Given the description of an element on the screen output the (x, y) to click on. 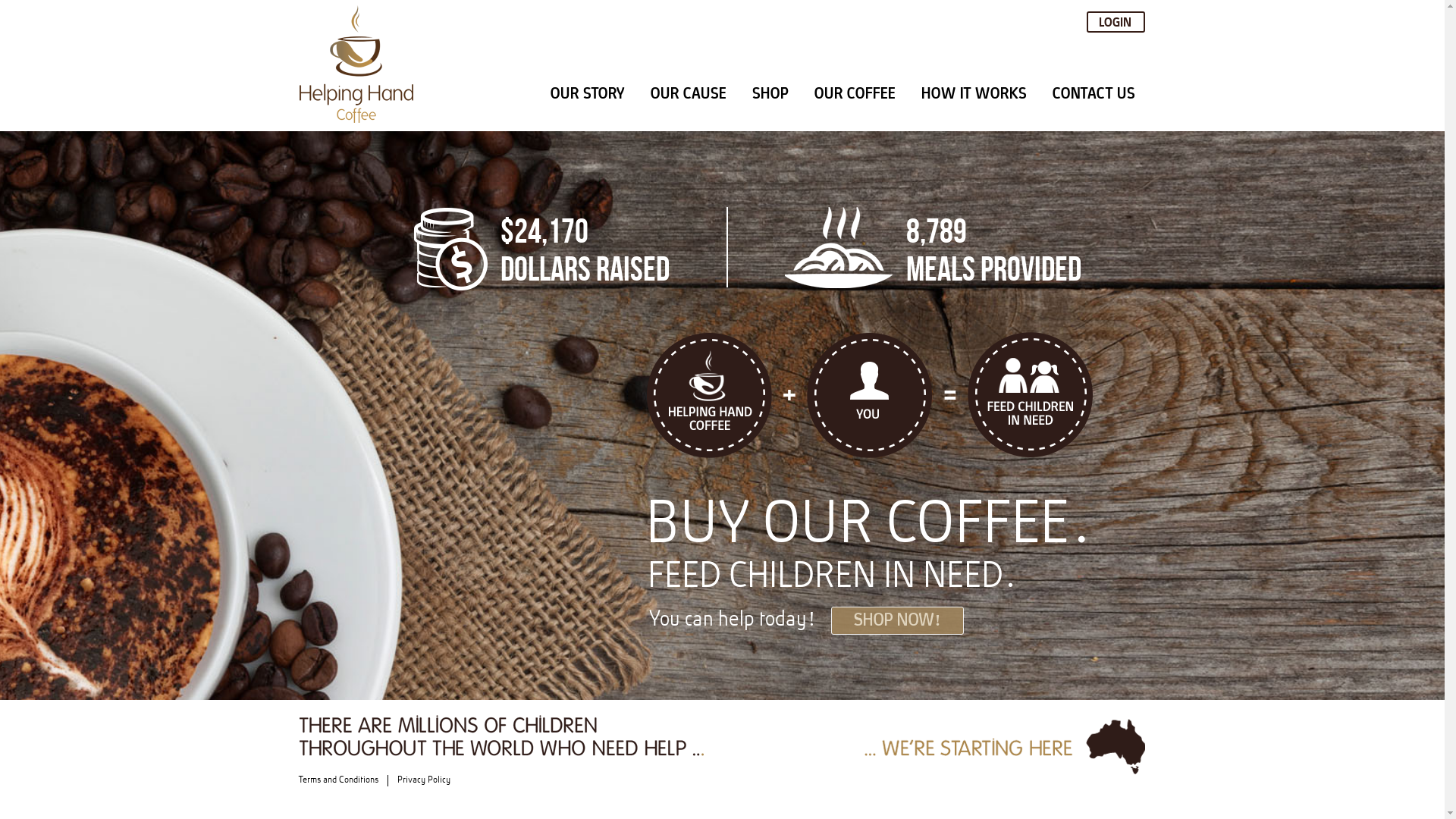
OUR CAUSE Element type: text (689, 93)
Privacy Policy Element type: text (424, 779)
HOW IT WORKS Element type: text (974, 93)
Terms and Conditions Element type: text (339, 779)
OUR COFFEE Element type: text (855, 93)
SHOP Element type: text (770, 93)
SHOP NOW! Element type: text (897, 620)
CONTACT US Element type: text (1094, 93)
OUR STORY Element type: text (588, 93)
LOGIN Element type: text (1115, 21)
